Given the description of an element on the screen output the (x, y) to click on. 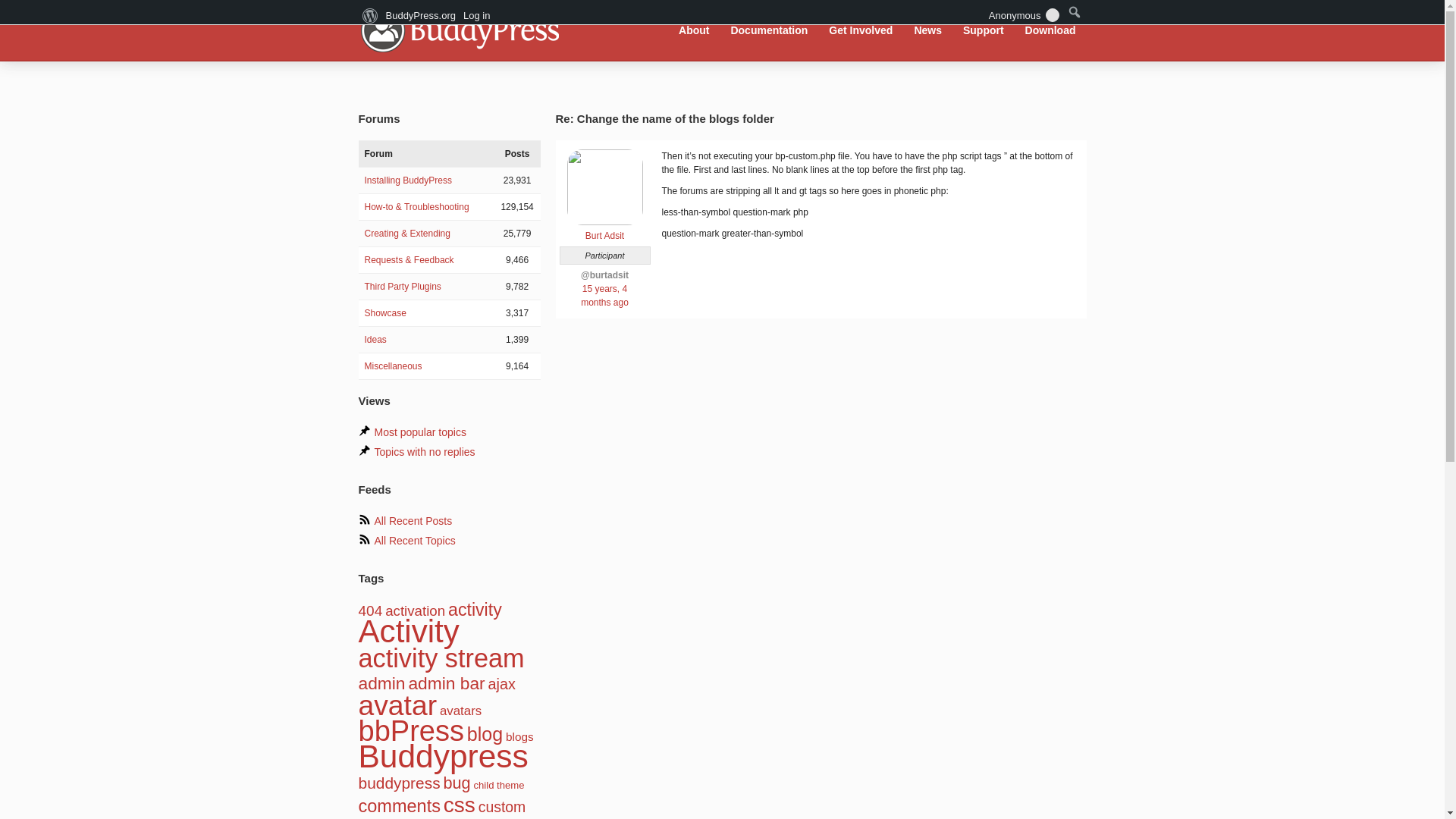
Topics with no replies (425, 451)
Most popular topics (419, 431)
ajax (501, 683)
admin (381, 682)
activity (475, 609)
Activity (408, 631)
News (927, 29)
Documentation (768, 29)
BuddyPress.org (458, 29)
avatars (460, 710)
